Given the description of an element on the screen output the (x, y) to click on. 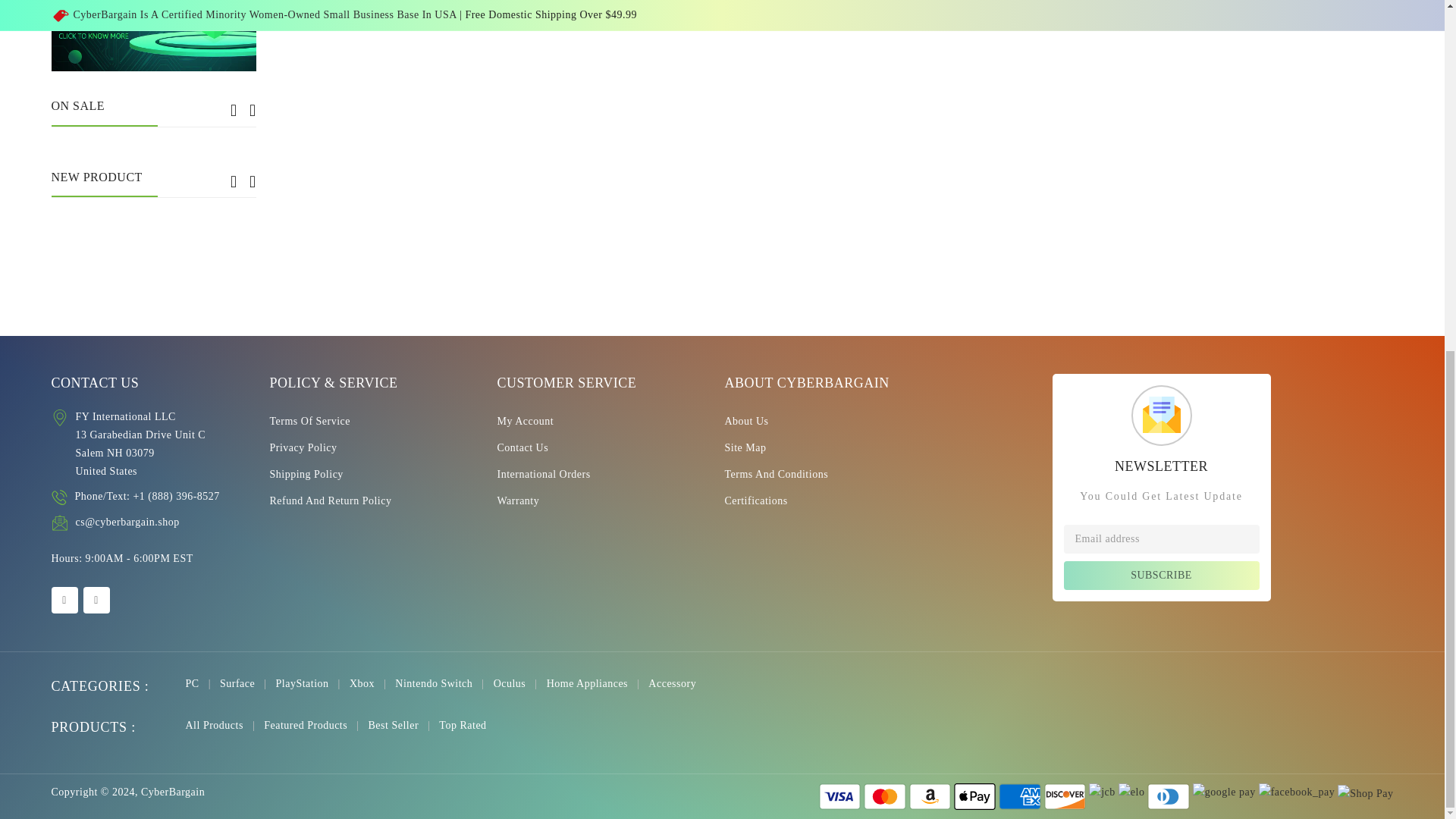
PC (201, 683)
featured products (315, 725)
top rated (462, 725)
Surface (247, 683)
Home Appliances (598, 683)
playstation (312, 683)
accessory (671, 683)
Best Seller (403, 725)
nintendo switch (443, 683)
Instagram (96, 600)
Twitter (64, 600)
Products (223, 725)
xbox (371, 683)
oculus (520, 683)
